Given the description of an element on the screen output the (x, y) to click on. 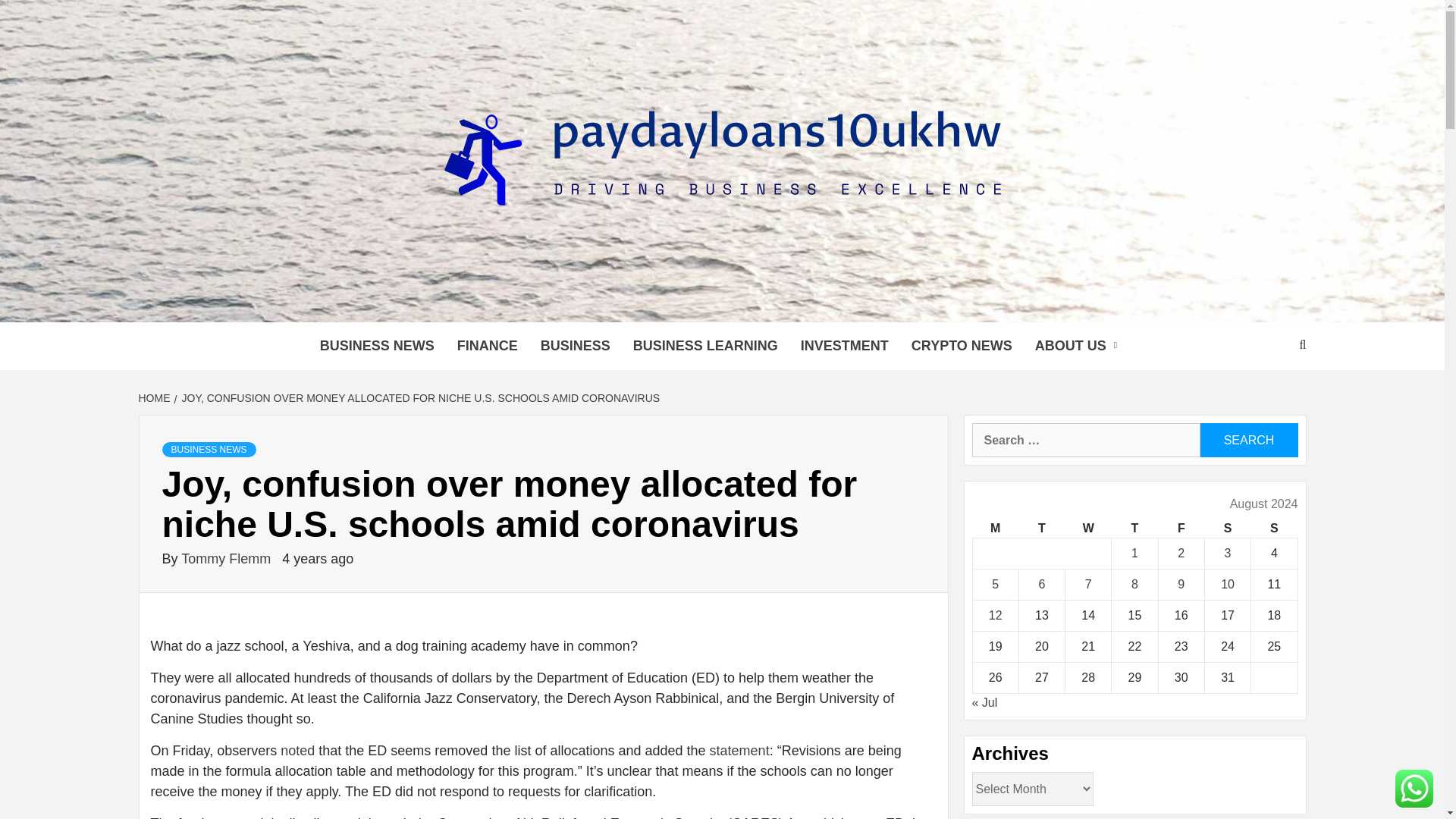
PAYDAYLOANS10UKHW (582, 303)
Tuesday (1040, 528)
BUSINESS (575, 346)
noted (297, 750)
statement (740, 750)
Friday (1180, 528)
Search (1248, 440)
Monday (994, 528)
HOME (155, 398)
Tommy Flemm (227, 558)
